Given the description of an element on the screen output the (x, y) to click on. 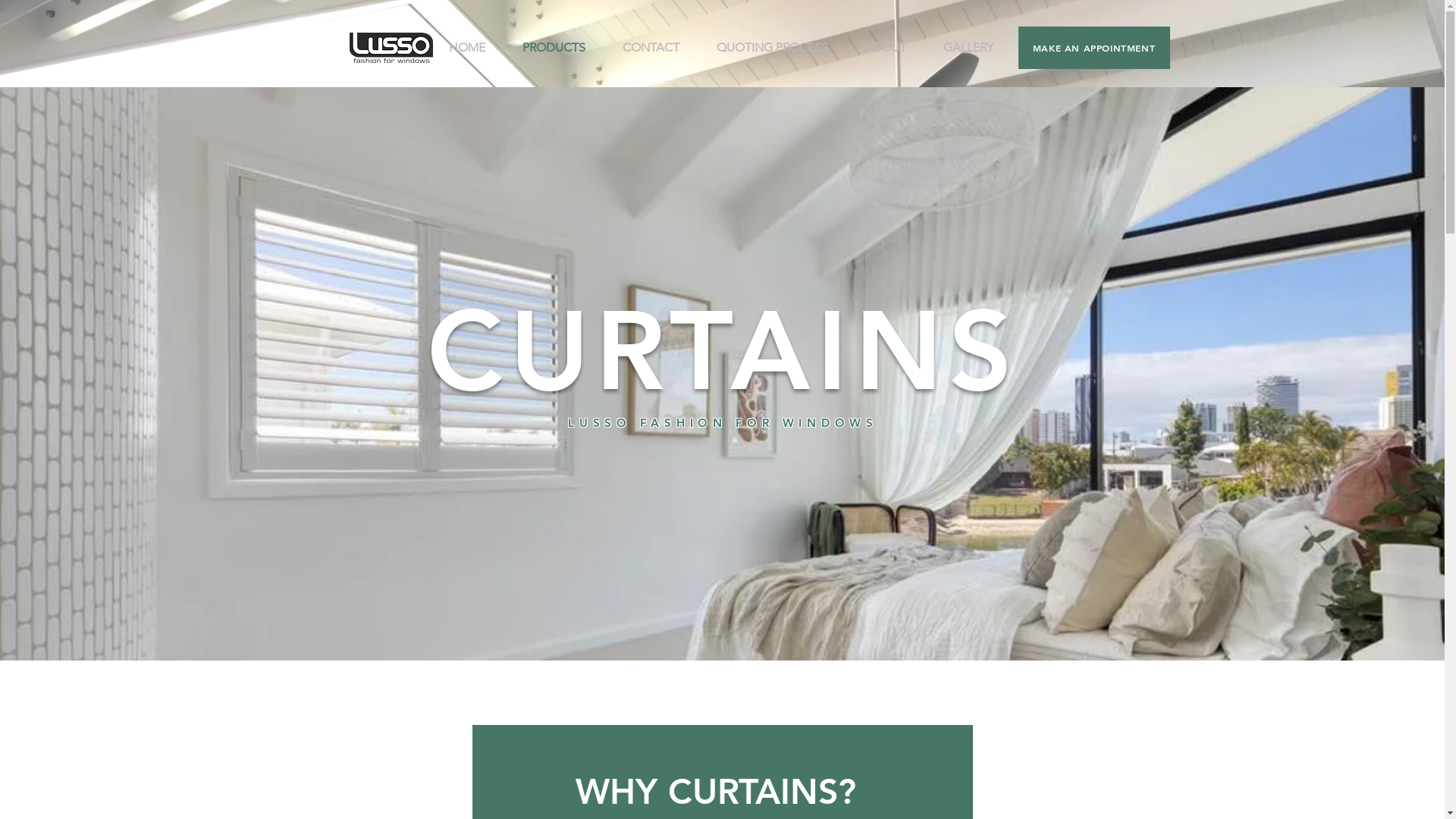
GALLERY Element type: text (974, 47)
MAKE AN APPOINTMENT Element type: text (1093, 47)
ABOUT Element type: text (892, 47)
PRODUCTS Element type: text (561, 47)
QUOTING PROCESS Element type: text (779, 47)
HOME Element type: text (473, 47)
CONTACT Element type: text (658, 47)
